Given the description of an element on the screen output the (x, y) to click on. 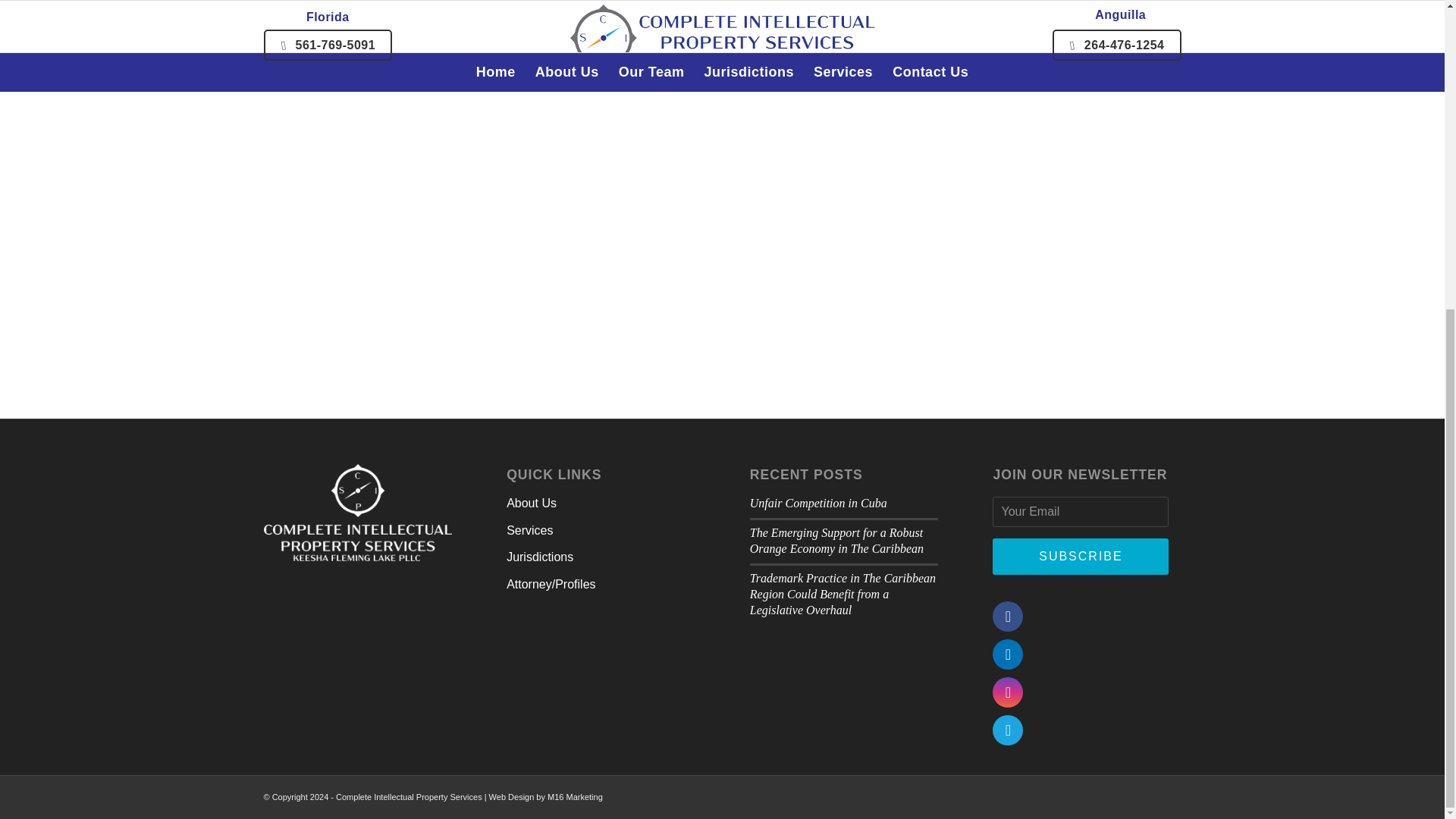
About Us (600, 503)
Unfair Competition in Cuba (817, 502)
Jurisdictions (600, 557)
Subscribe (1080, 556)
LinkedIn (1007, 654)
Twitter (1007, 729)
Subscribe (1080, 556)
Facebook (1007, 616)
